Given the description of an element on the screen output the (x, y) to click on. 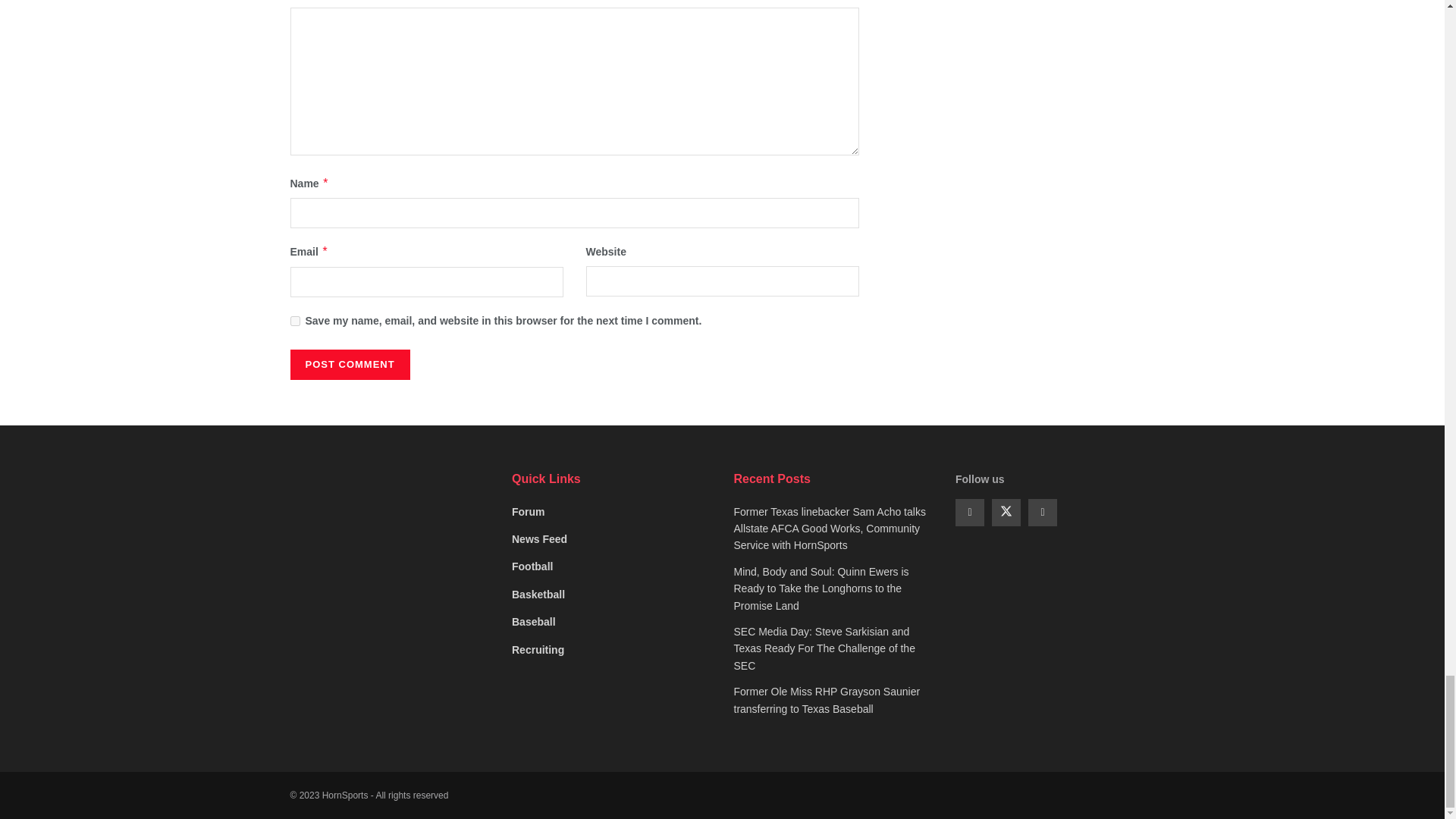
Post Comment (349, 364)
yes (294, 320)
